Given the description of an element on the screen output the (x, y) to click on. 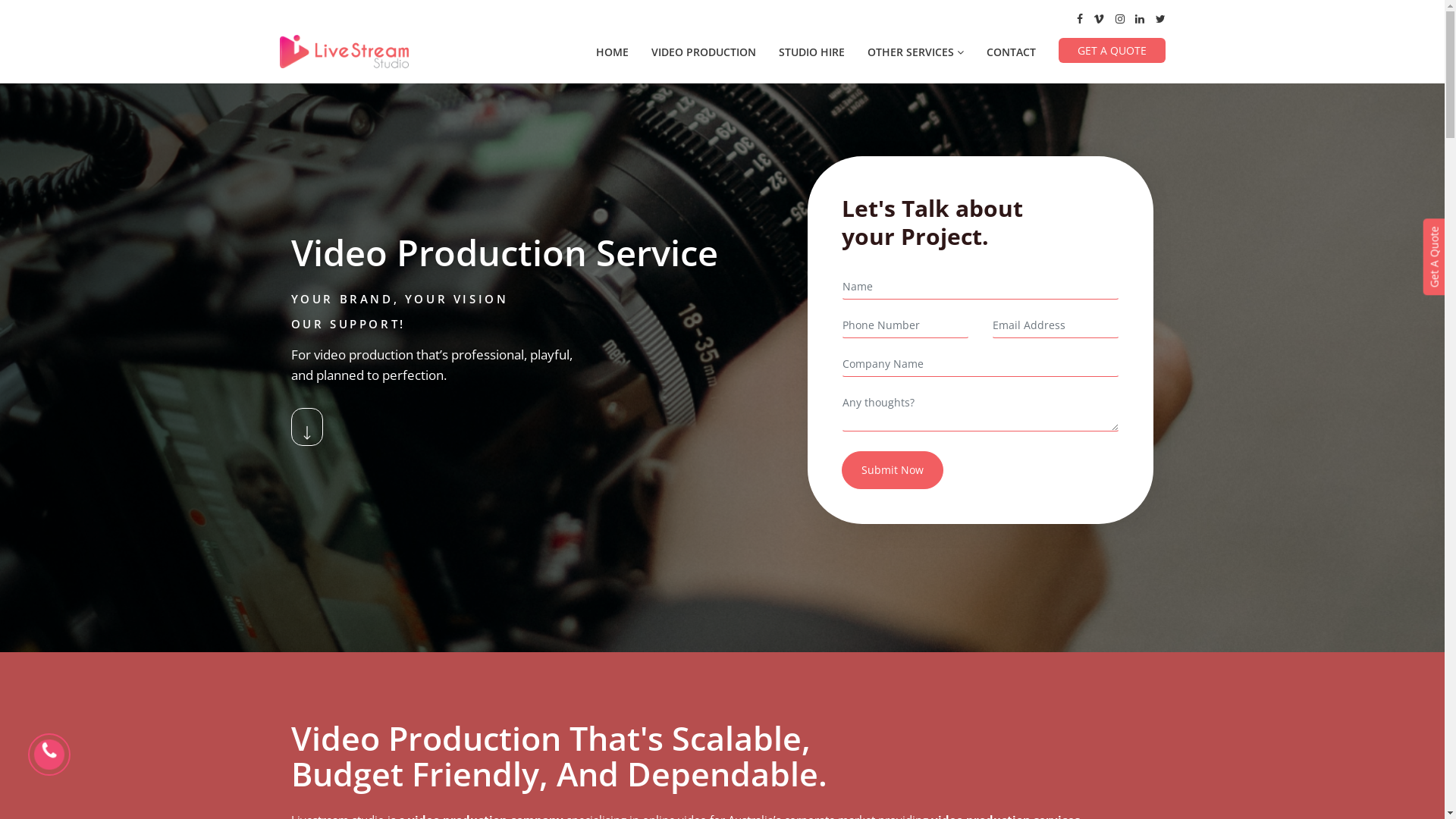
VIDEO PRODUCTION Element type: text (702, 51)
HOME Element type: text (612, 51)
STUDIO HIRE Element type: text (811, 51)
Submit Now Element type: text (892, 470)
CONTACT Element type: text (1010, 51)
GET A QUOTE Element type: text (1111, 49)
OTHER SERVICES Element type: text (915, 51)
